Given the description of an element on the screen output the (x, y) to click on. 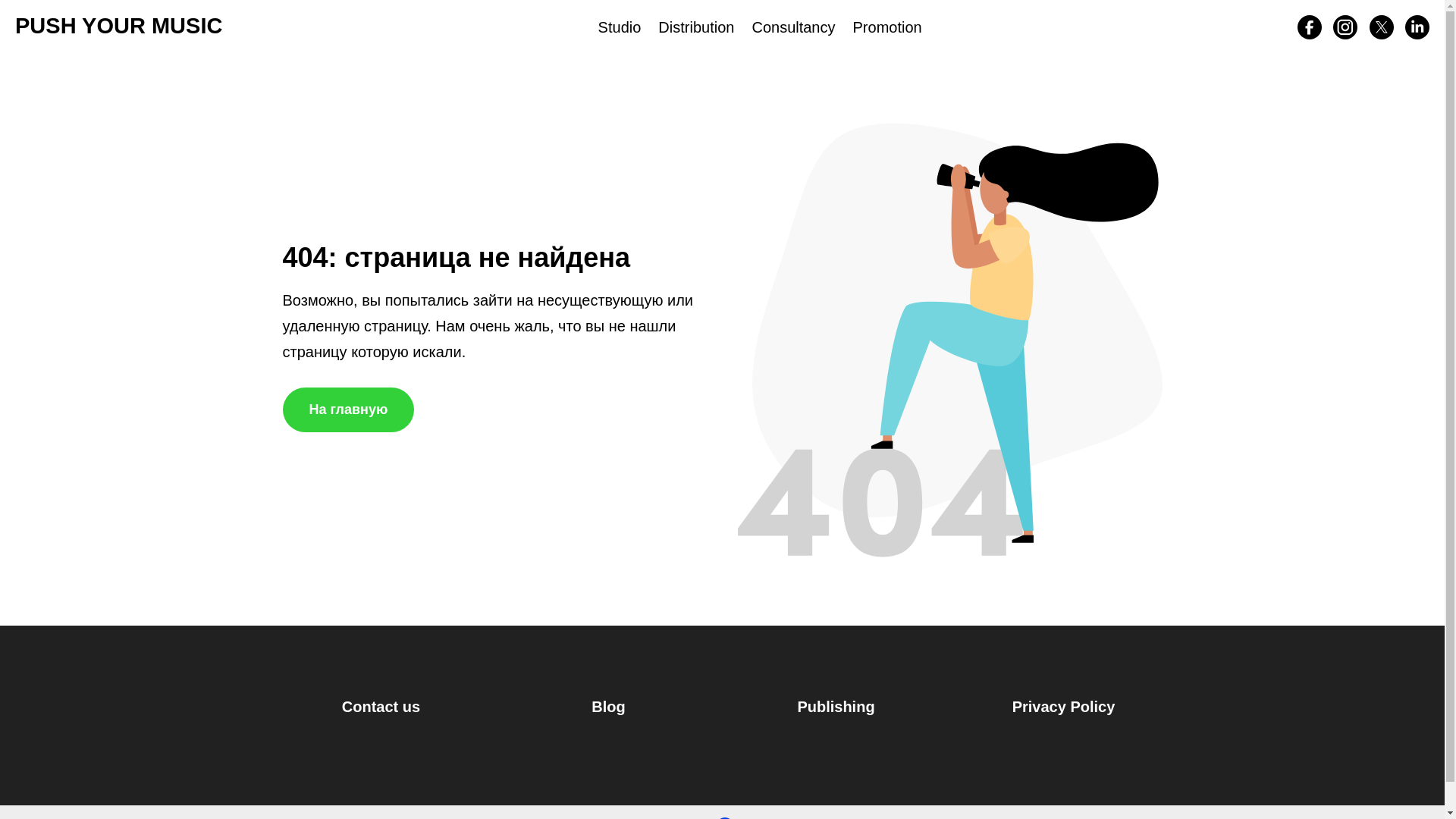
Facebook (1309, 27)
PUSH YOUR MUSIC (118, 25)
LinkedIn (1417, 27)
Promotion (887, 27)
Consultancy (792, 27)
Distribution (695, 27)
Blog (607, 706)
Studio (620, 27)
Privacy Policy (1062, 706)
